Given the description of an element on the screen output the (x, y) to click on. 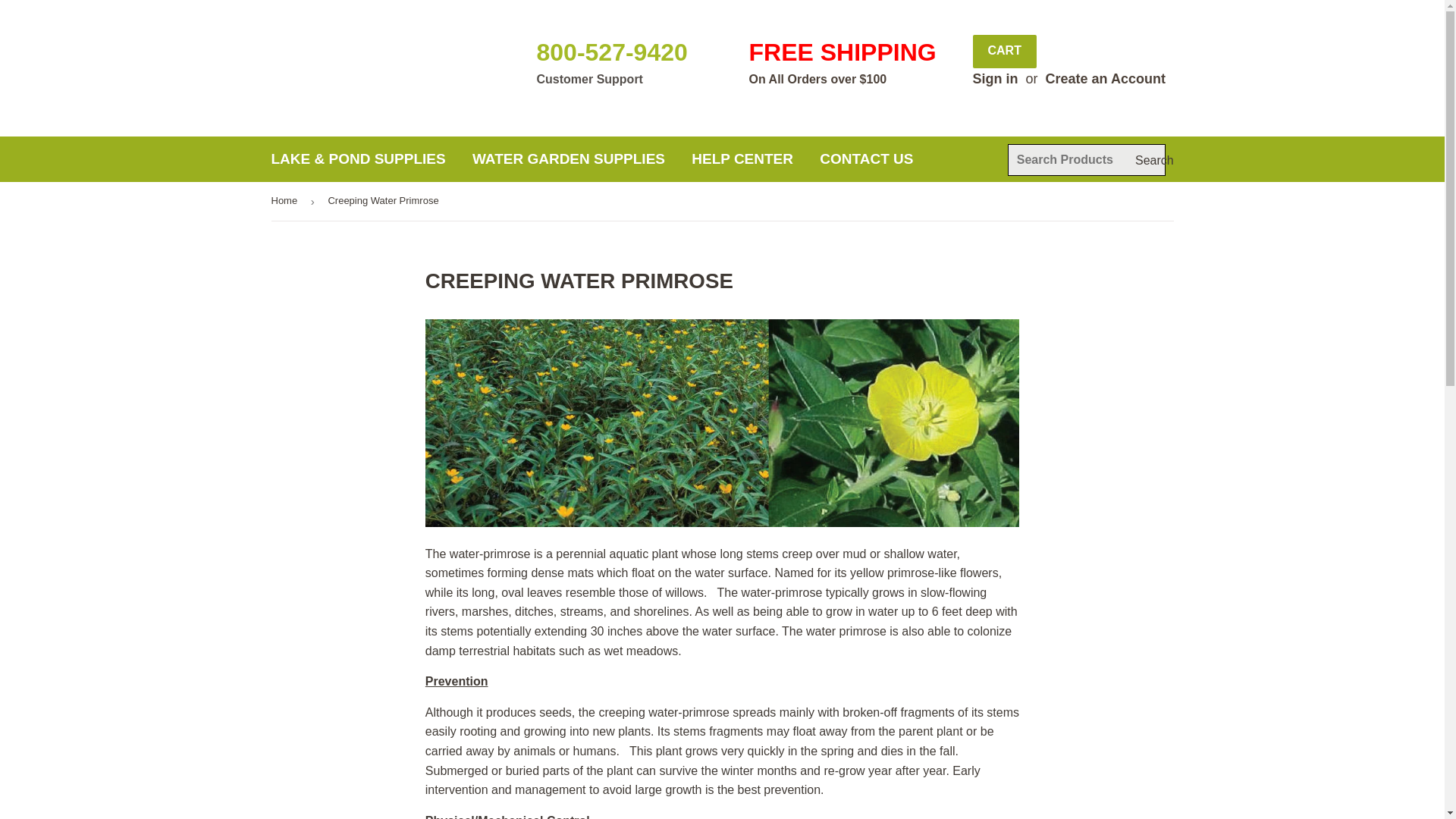
Create an Account (1105, 78)
CART (1003, 51)
Customer Support (590, 78)
Sign in (994, 78)
WATER GARDEN SUPPLIES (569, 158)
